Given the description of an element on the screen output the (x, y) to click on. 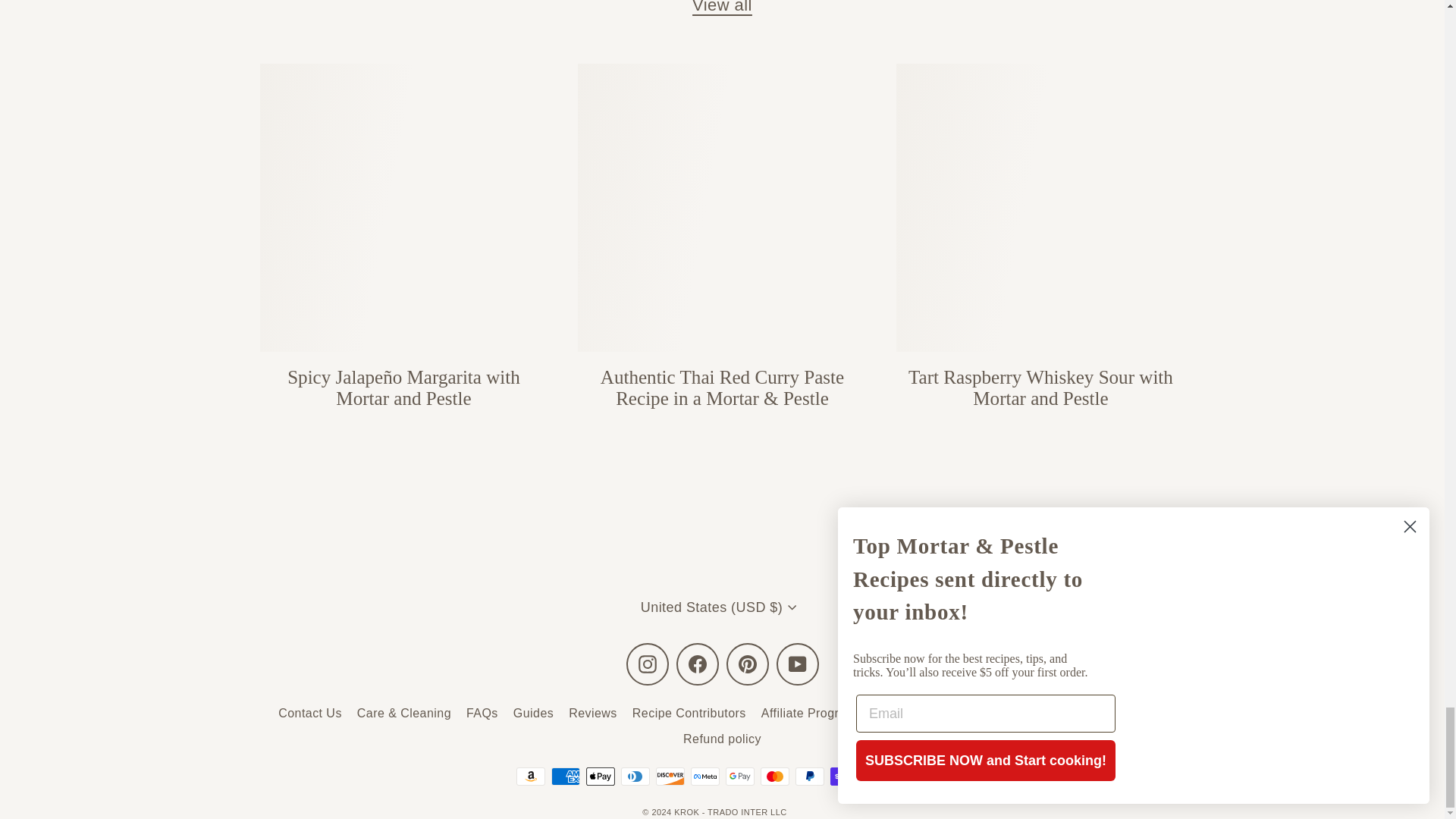
Amazon (529, 776)
KROK on YouTube (797, 663)
KROK on Instagram (647, 663)
KROK on Pinterest (747, 663)
KROK on Facebook (698, 663)
